Given the description of an element on the screen output the (x, y) to click on. 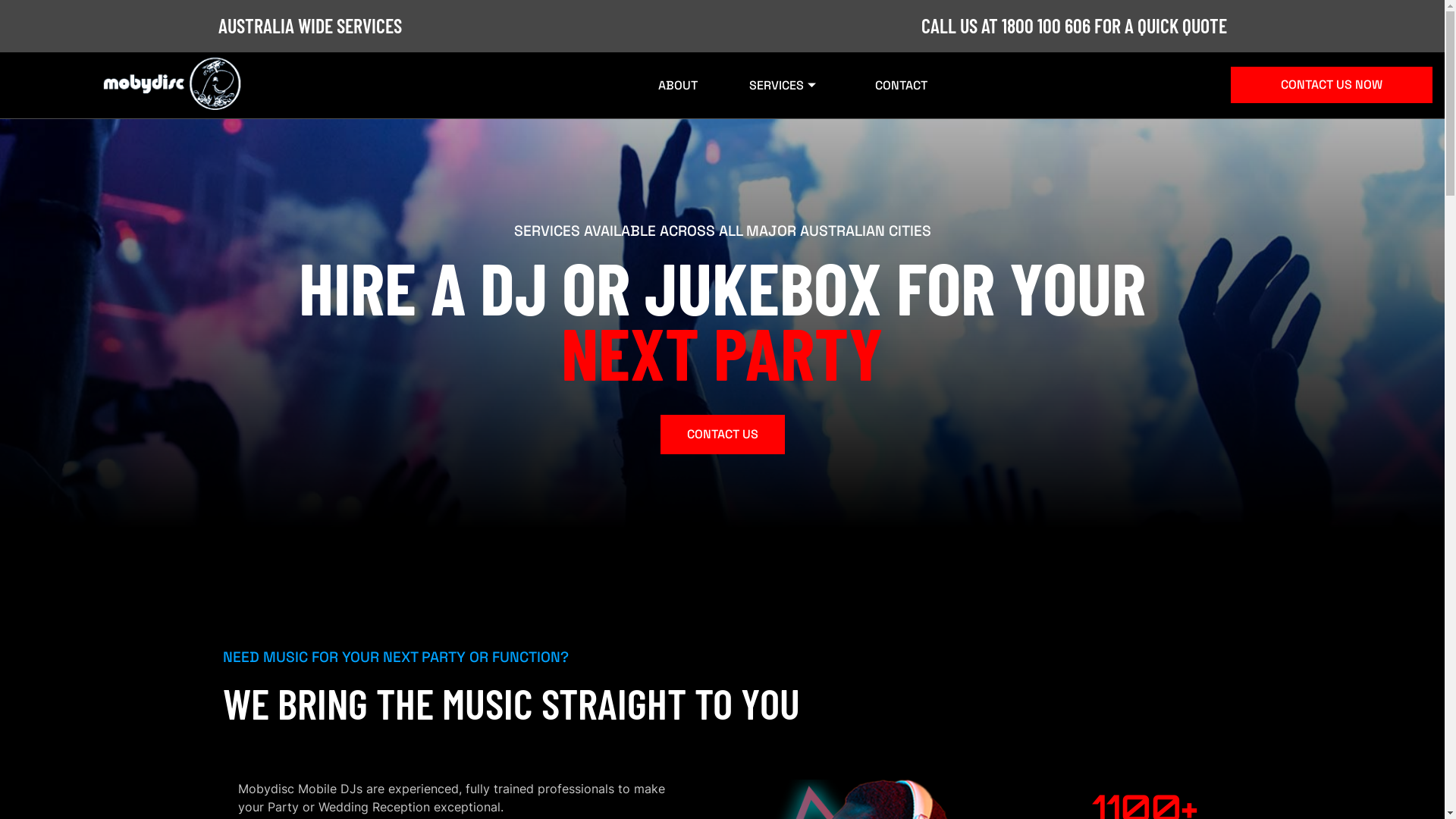
SERVICES Element type: text (783, 94)
CONTACT US NOW Element type: text (1331, 84)
ABOUT Element type: text (674, 94)
CONTACT US Element type: text (721, 434)
CONTACT Element type: text (898, 94)
